Given the description of an element on the screen output the (x, y) to click on. 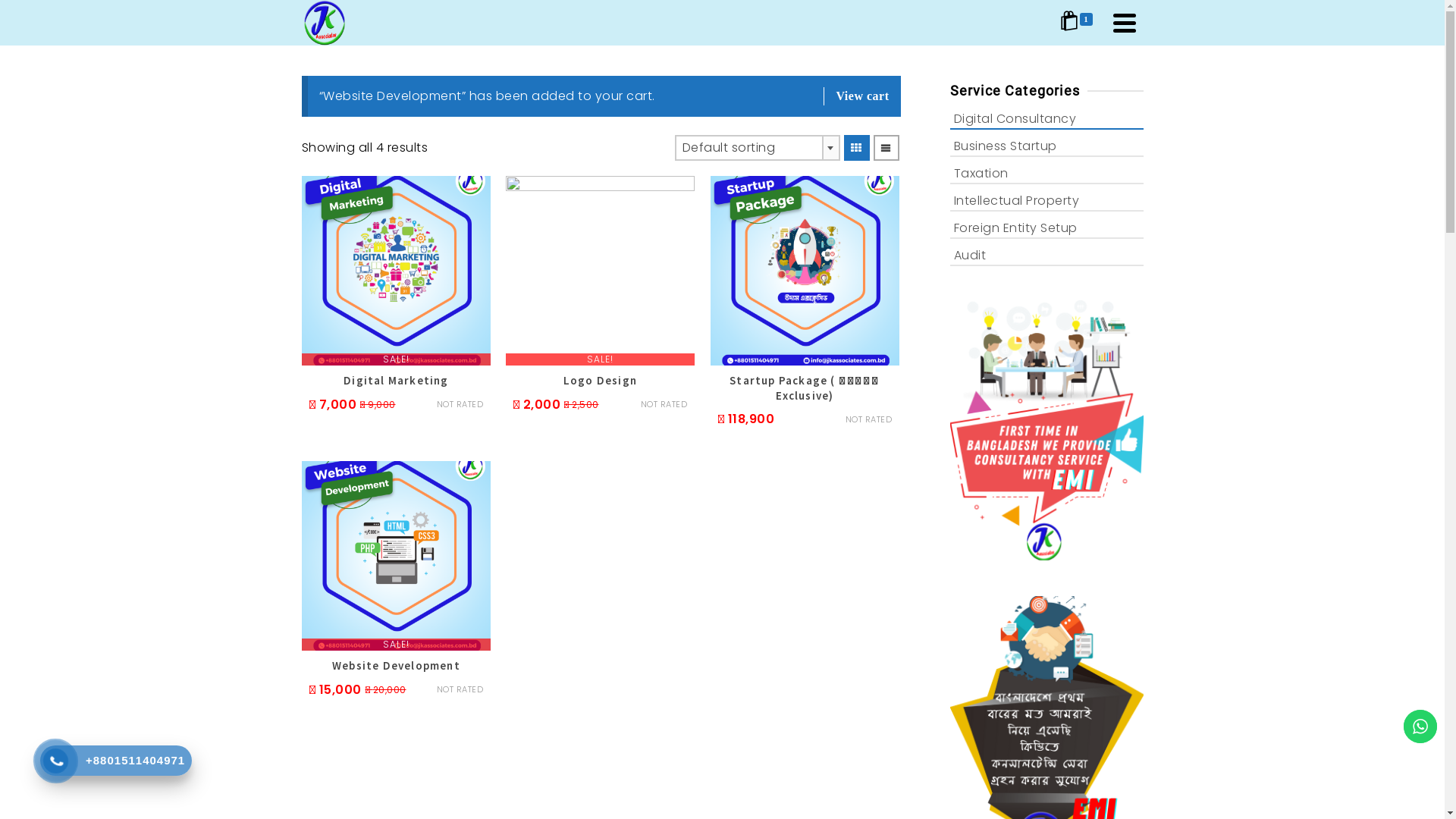
+8801511404971 Element type: text (115, 760)
Intellectual Property Element type: text (1045, 199)
Digital Marketing Element type: text (396, 380)
Foreign Entity Setup Element type: text (1045, 226)
Grid View Element type: hover (856, 147)
Audit Element type: text (1045, 254)
Website Development Element type: text (396, 665)
Business Startup Element type: text (1045, 144)
Logo Design Element type: text (599, 380)
View cart Element type: text (855, 96)
1 Element type: text (1078, 22)
List View Element type: hover (886, 147)
Digital Consultancy Element type: text (1045, 117)
Taxation Element type: text (1045, 172)
SALE! Element type: text (599, 270)
SALE! Element type: text (396, 555)
SALE! Element type: text (396, 270)
